Given the description of an element on the screen output the (x, y) to click on. 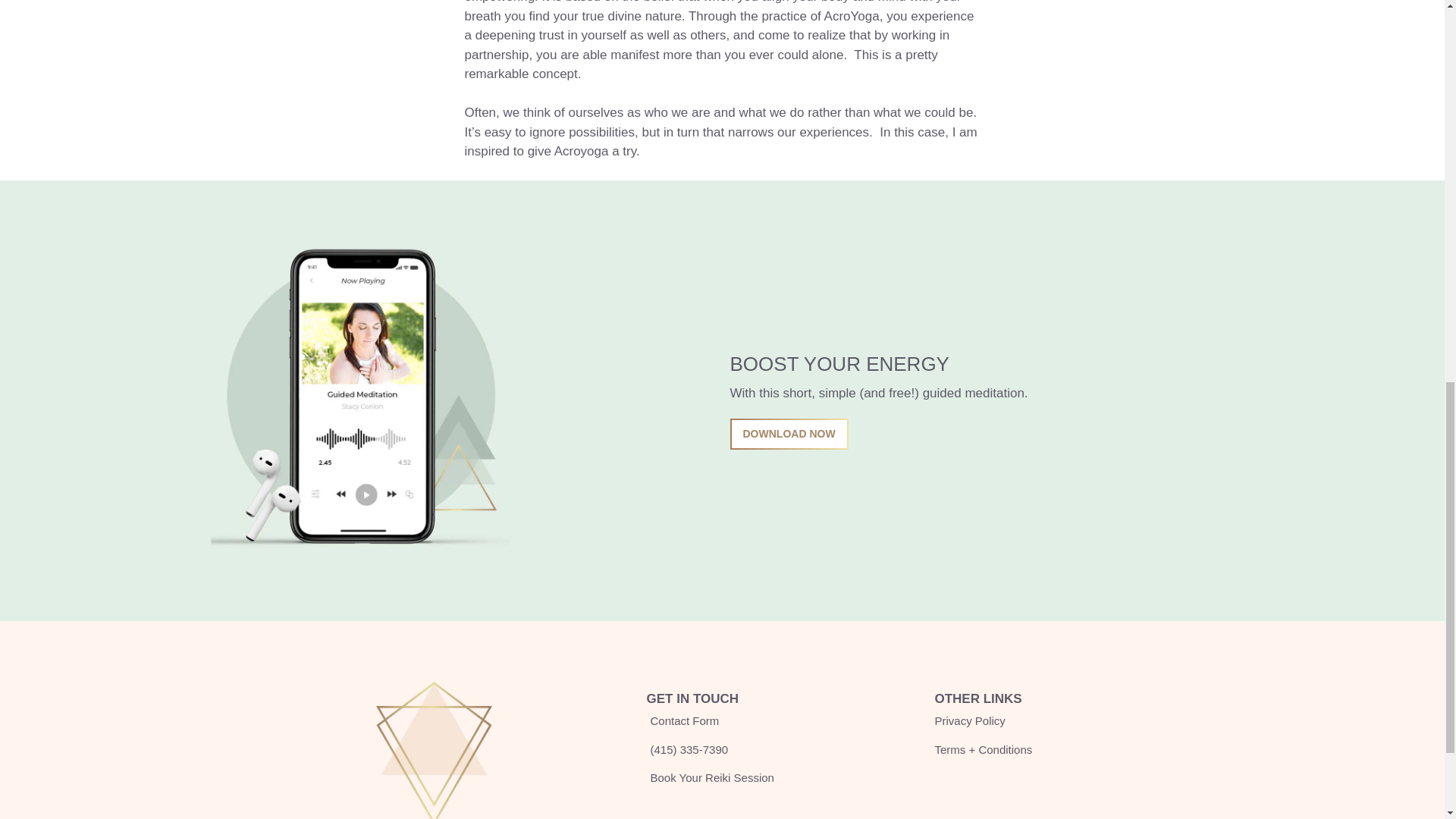
Privacy Policy (969, 721)
Book Your Reiki Session (709, 778)
DOWNLOAD NOW (788, 433)
Contact Form (682, 721)
